Given the description of an element on the screen output the (x, y) to click on. 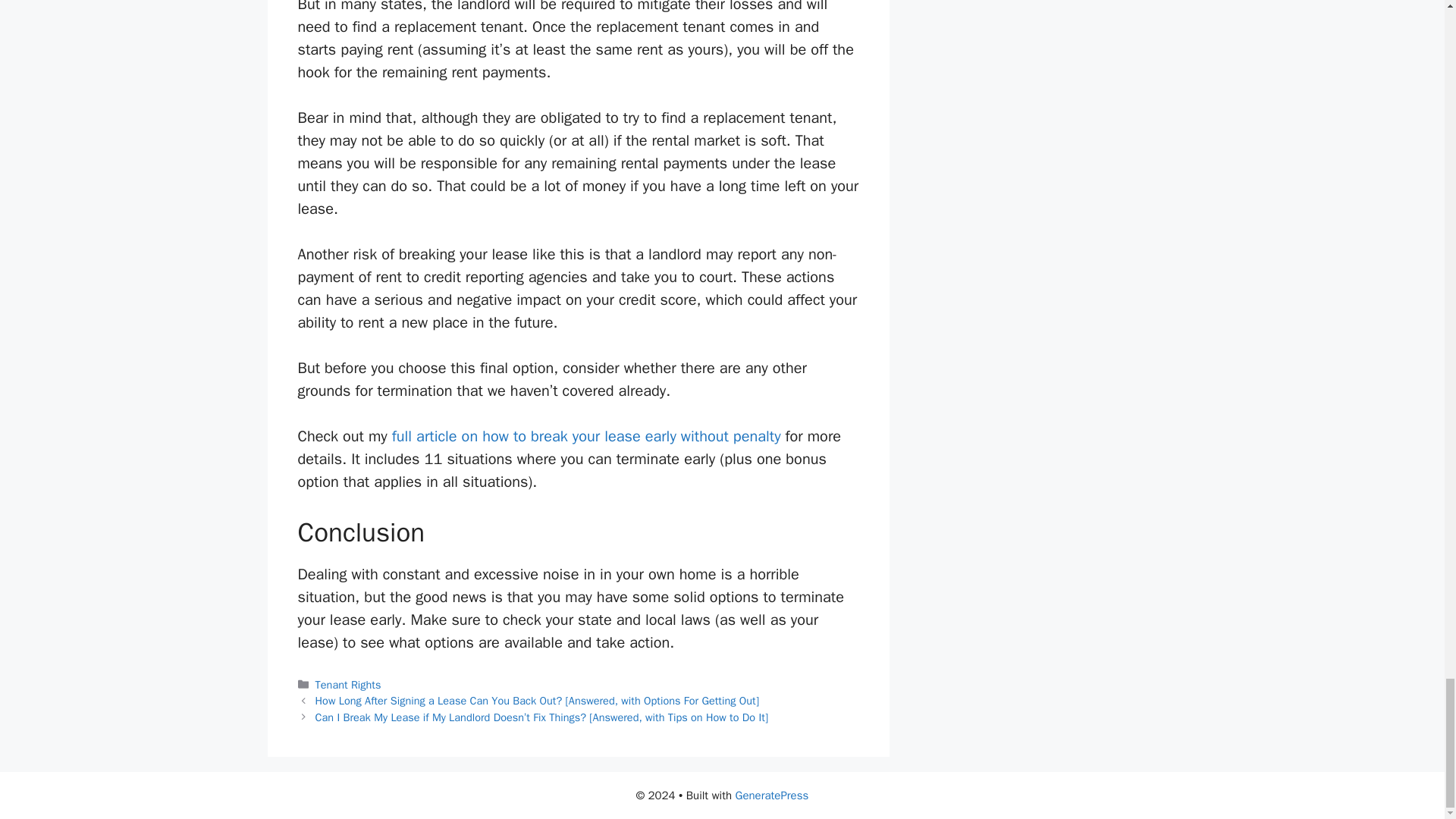
GeneratePress (772, 795)
Tenant Rights (348, 684)
